Given the description of an element on the screen output the (x, y) to click on. 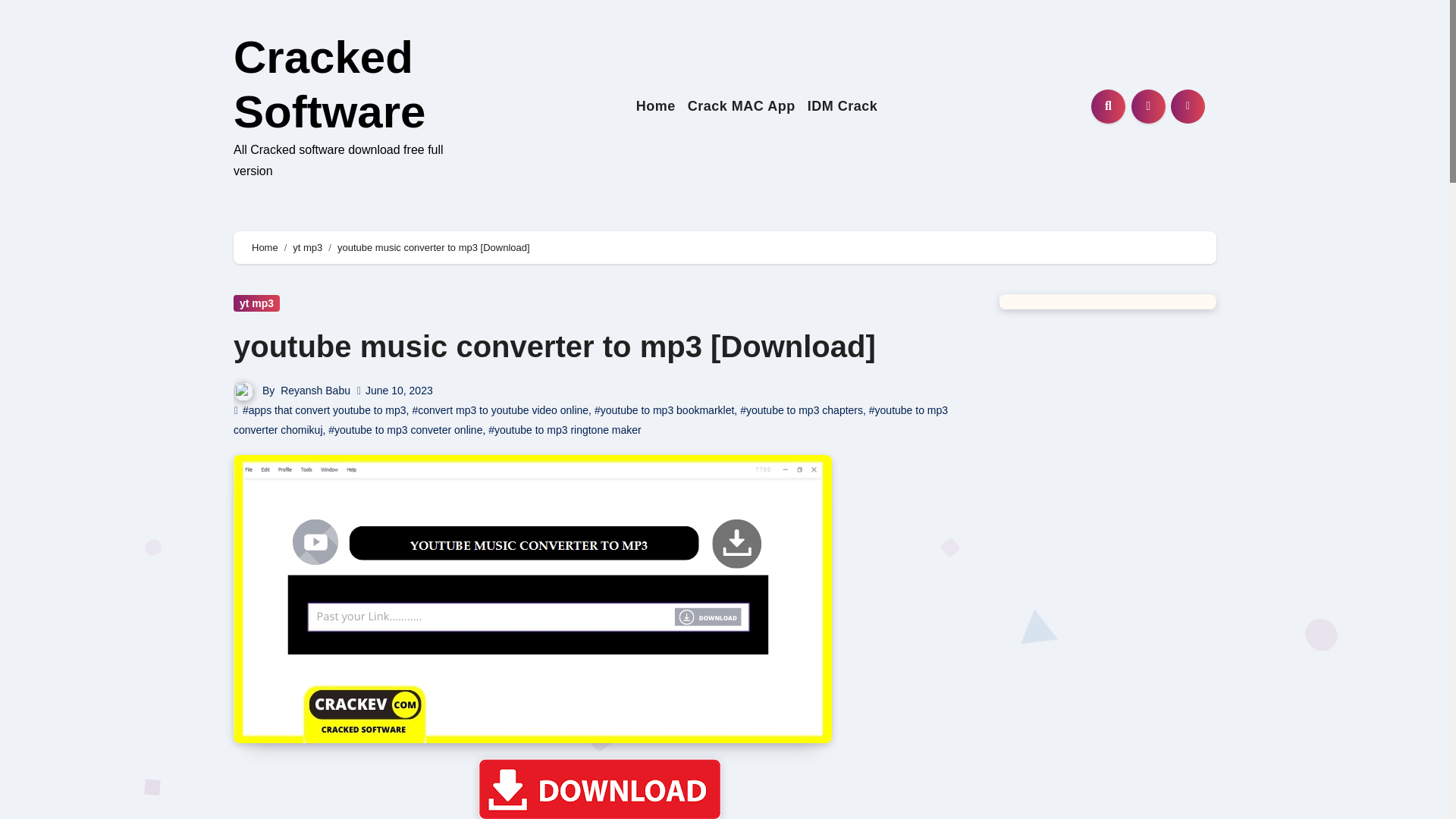
IDM Crack (842, 106)
yt mp3 (306, 247)
June 10, 2023 (398, 390)
Cracked Software (328, 84)
yt mp3 (255, 303)
Home (655, 106)
Reyansh Babu (315, 390)
Crack MAC App (741, 106)
IDM Crack (842, 106)
Home (655, 106)
Home (264, 247)
Crack MAC App (741, 106)
